Given the description of an element on the screen output the (x, y) to click on. 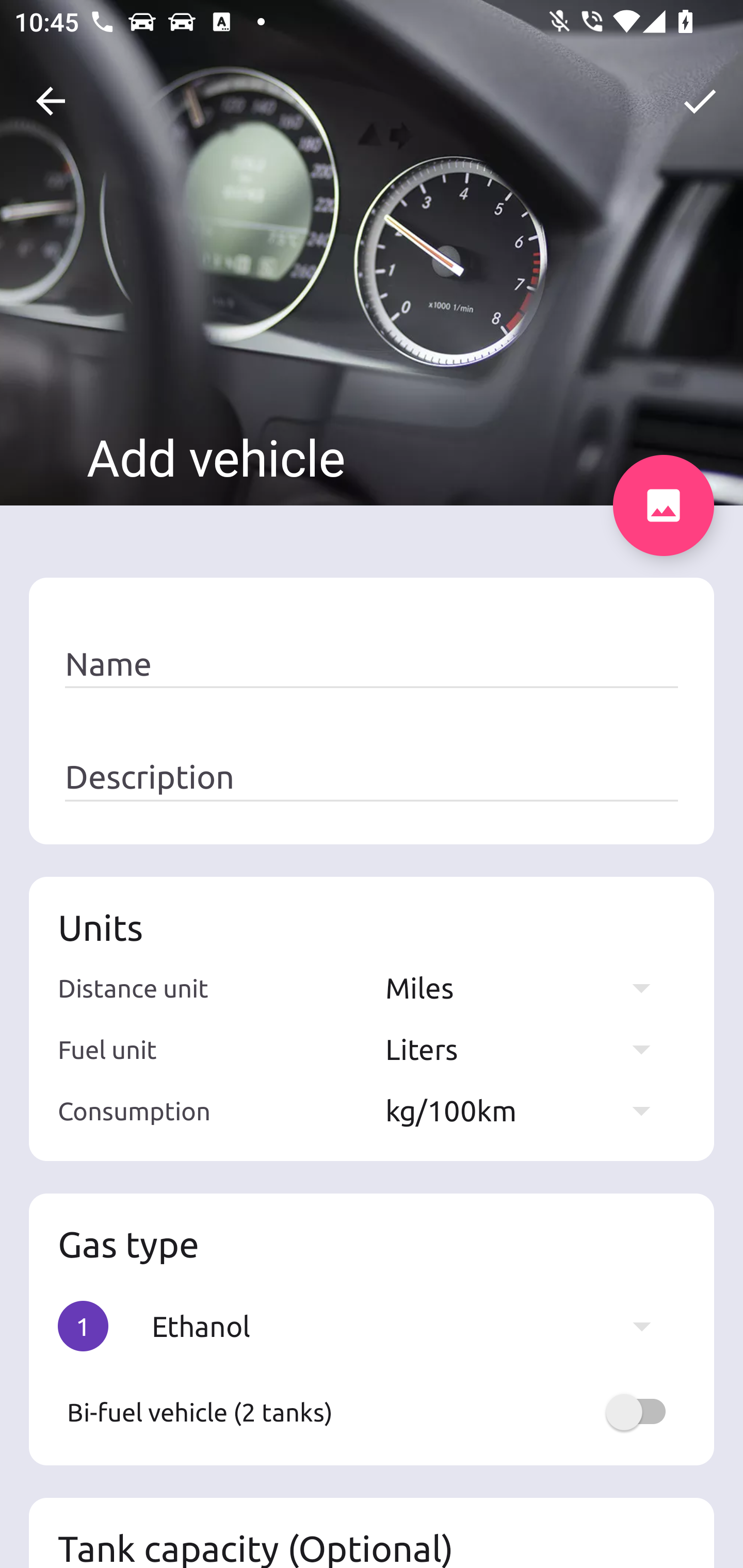
Navigate up (50, 101)
OK (699, 101)
Name (371, 664)
Description (371, 777)
Miles (527, 987)
Liters (527, 1048)
kg/100km (527, 1110)
Ethanol (411, 1325)
Bi-fuel vehicle (2 tanks) (371, 1411)
